Given the description of an element on the screen output the (x, y) to click on. 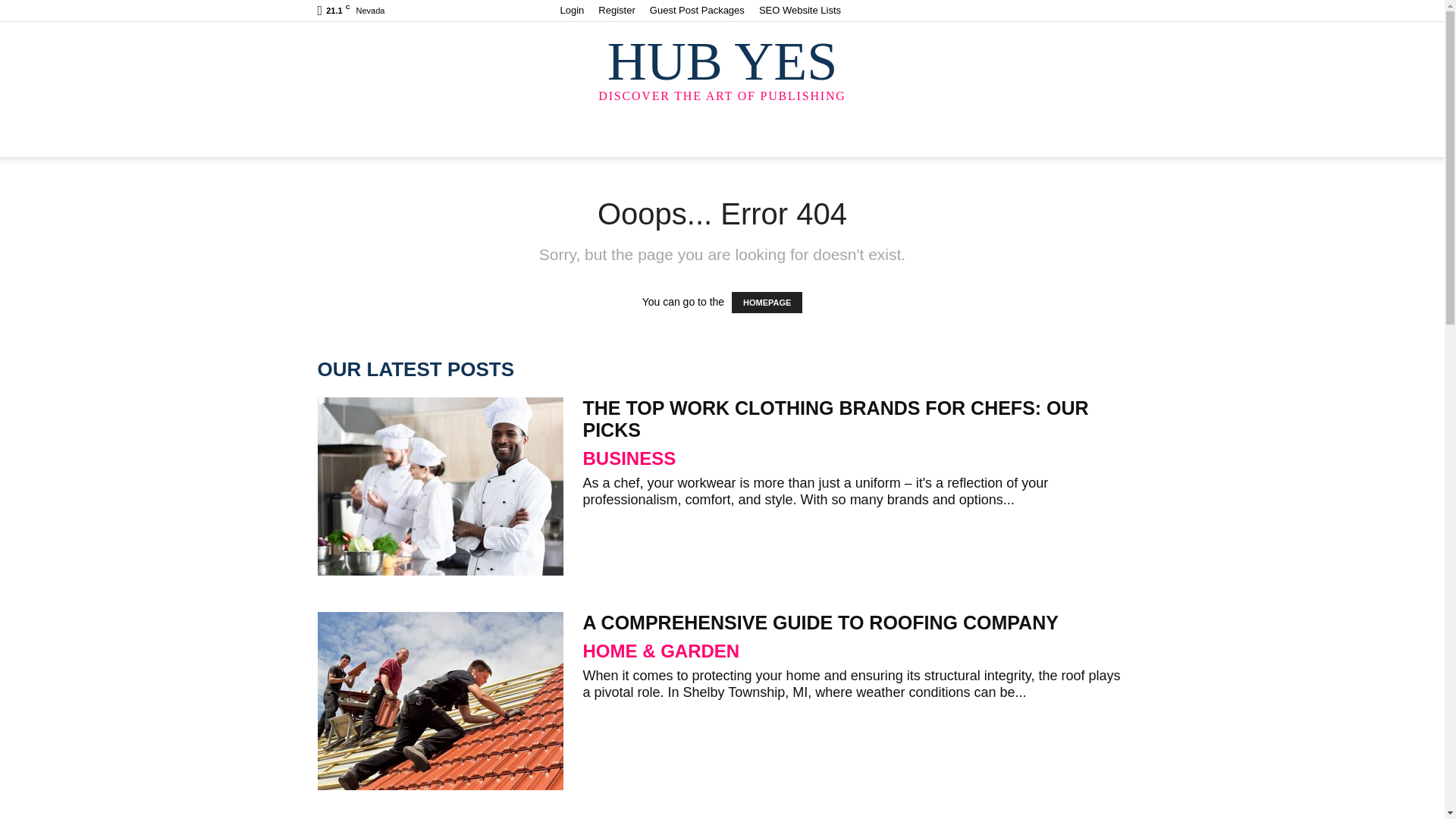
Login (571, 9)
SEO Website Lists (799, 9)
Youtube (1114, 10)
Pinterest (1065, 10)
Instagram (1015, 10)
Facebook (989, 10)
Register (616, 9)
A Comprehensive Guide to Roofing Company (439, 700)
Guest Post Packages (696, 9)
The Top Work Clothing Brands for Chefs: Our Picks (834, 418)
